Given the description of an element on the screen output the (x, y) to click on. 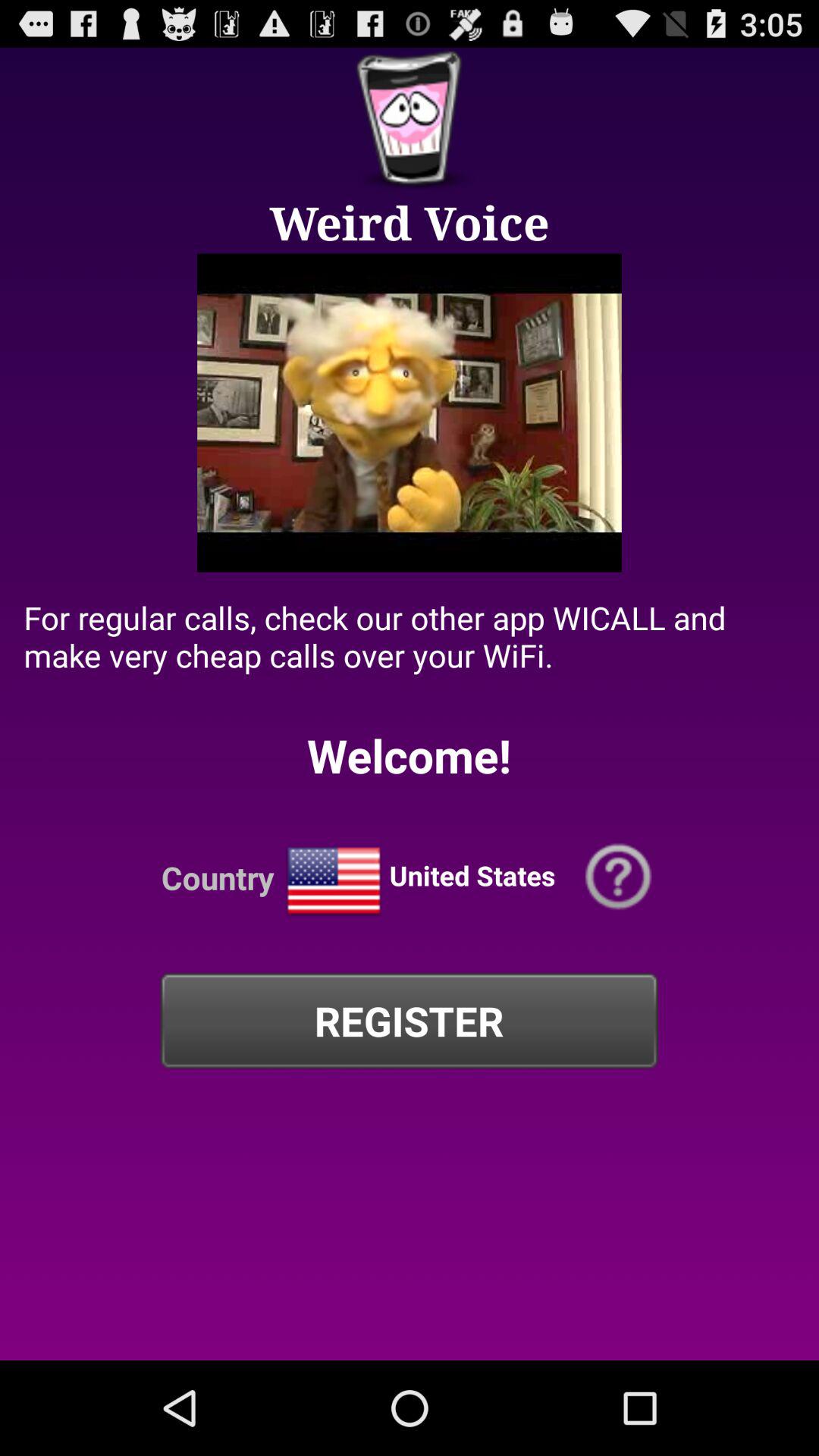
opens help menu (618, 877)
